Given the description of an element on the screen output the (x, y) to click on. 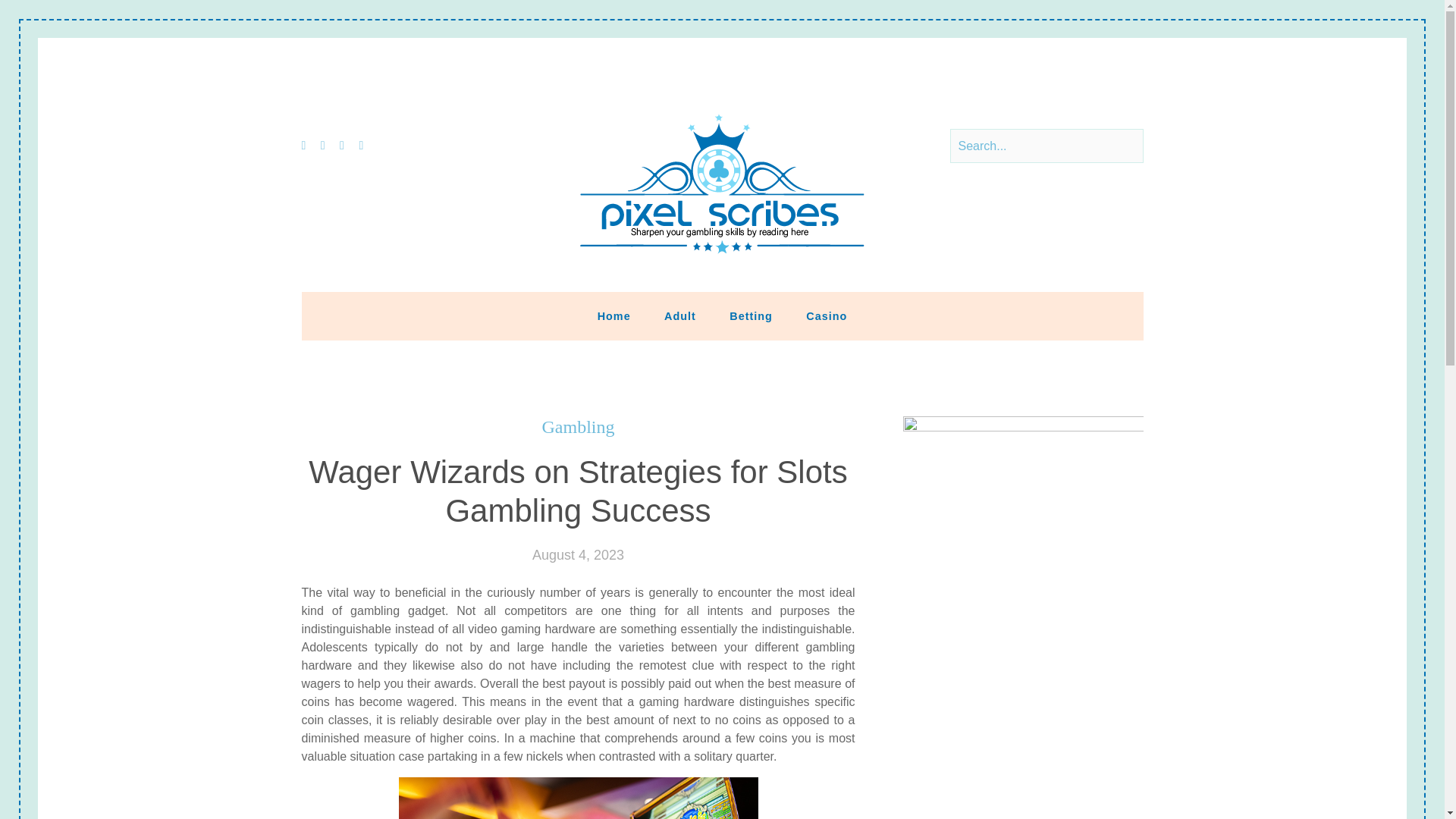
Home (614, 315)
August 4, 2023 (578, 555)
Betting (750, 315)
Gambling (577, 427)
Casino (825, 315)
Adult (680, 315)
